Given the description of an element on the screen output the (x, y) to click on. 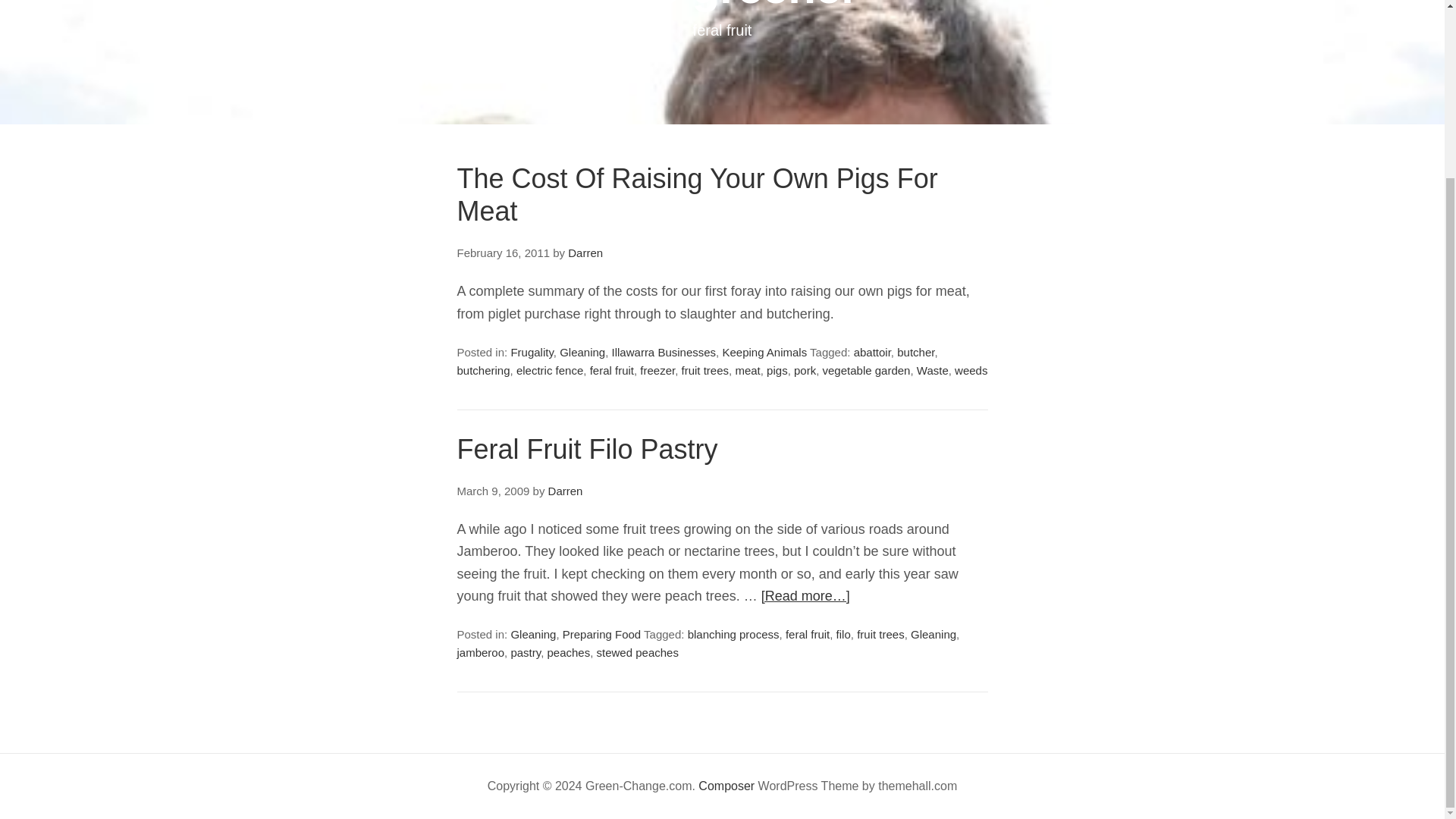
abattoir (872, 351)
blanching process (732, 634)
Posts by Darren (584, 252)
butchering (483, 369)
freezer (657, 369)
Darren (584, 252)
Illawarra Businesses (663, 351)
pigs (777, 369)
Darren (565, 490)
Gleaning (582, 351)
